Given the description of an element on the screen output the (x, y) to click on. 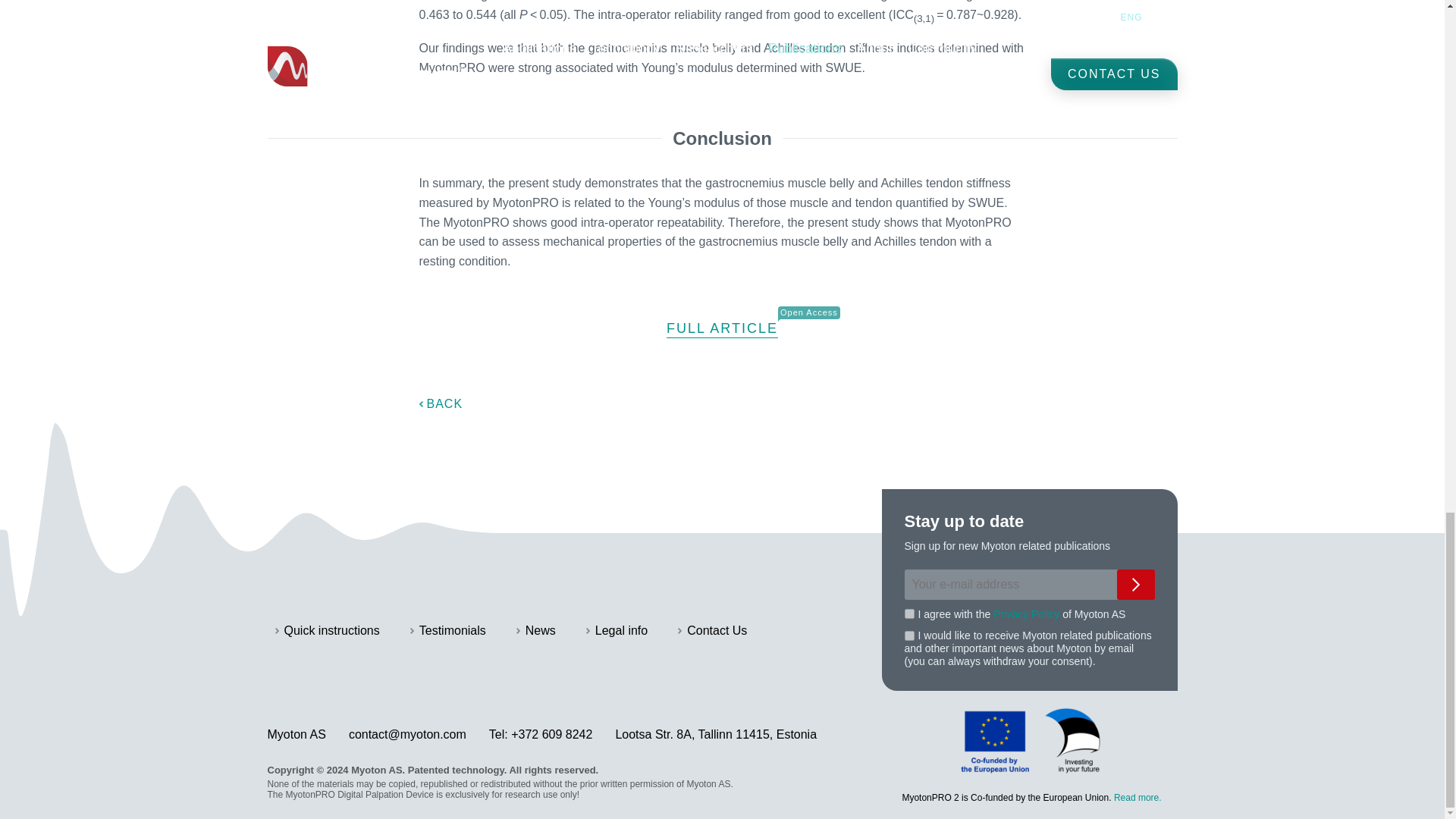
Quick instructions (326, 631)
Read more. (1137, 797)
Sign up (1135, 584)
Legal info (616, 631)
Privacy Policy (1025, 613)
BACK (441, 403)
Testimonials (448, 631)
Contact Us (712, 631)
News (536, 631)
FULL ARTICLE (721, 328)
on (909, 635)
on (909, 614)
